Given the description of an element on the screen output the (x, y) to click on. 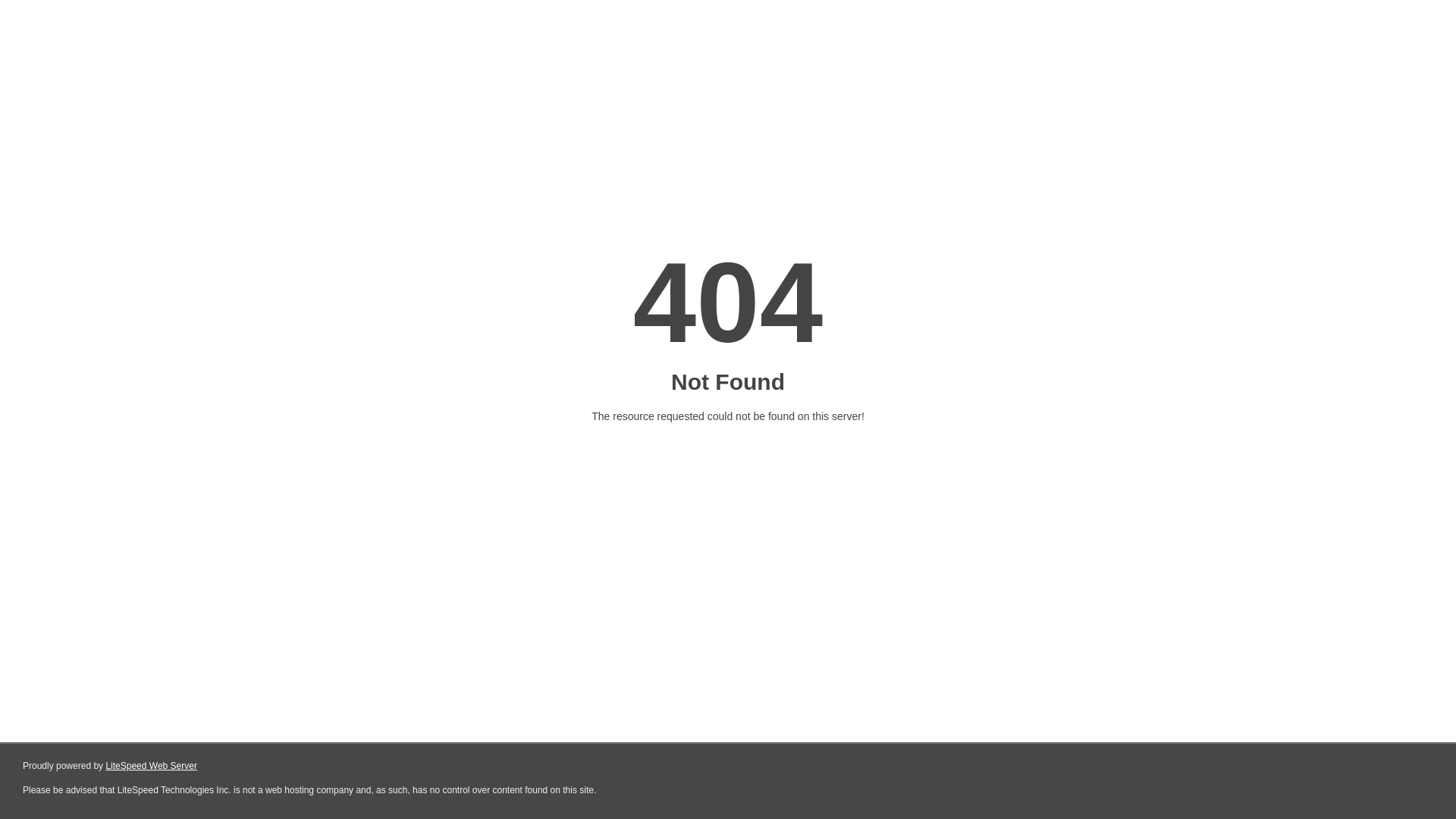
LiteSpeed Web Server Element type: text (151, 765)
